Given the description of an element on the screen output the (x, y) to click on. 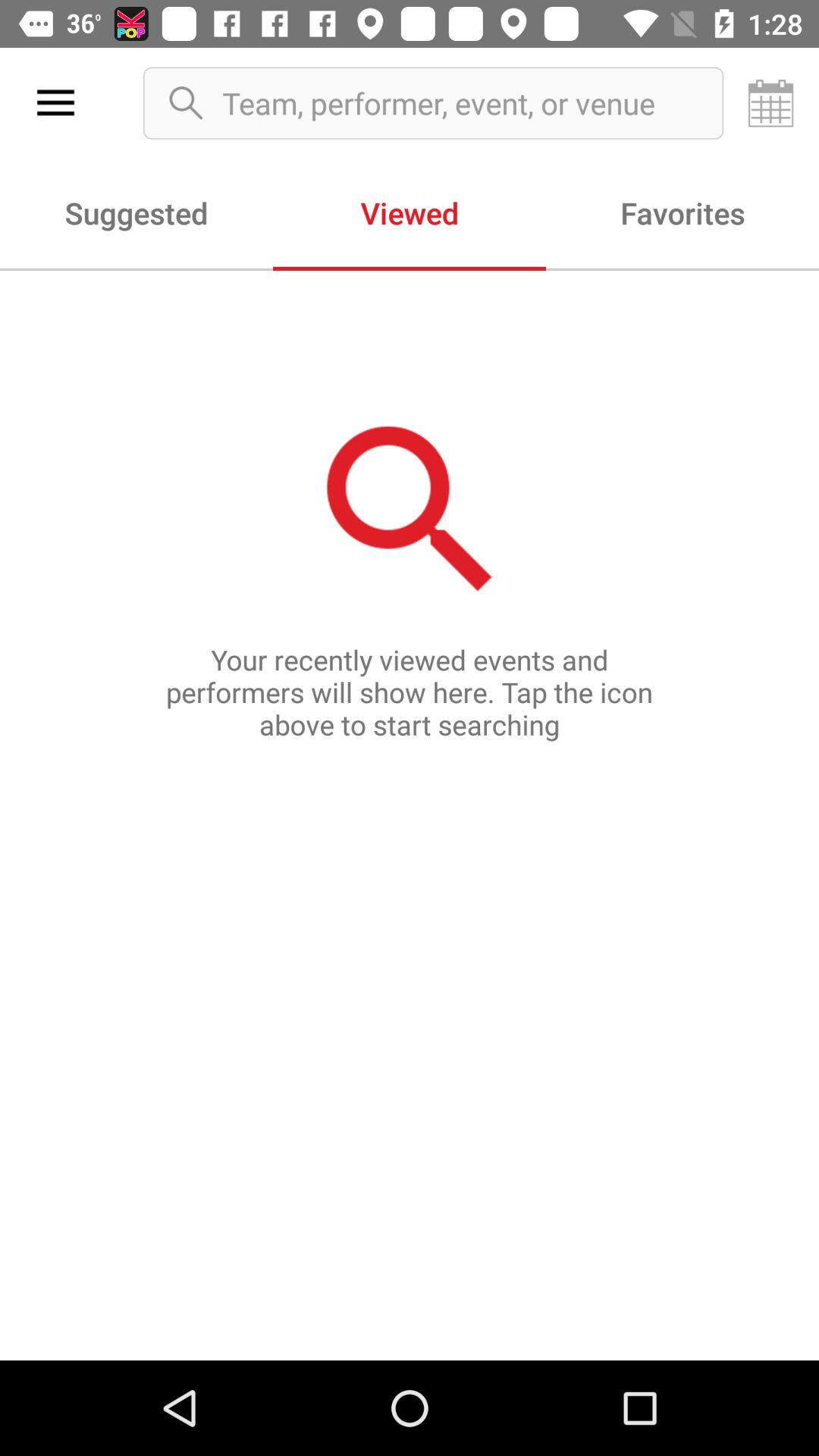
tap icon above suggested icon (55, 103)
